Given the description of an element on the screen output the (x, y) to click on. 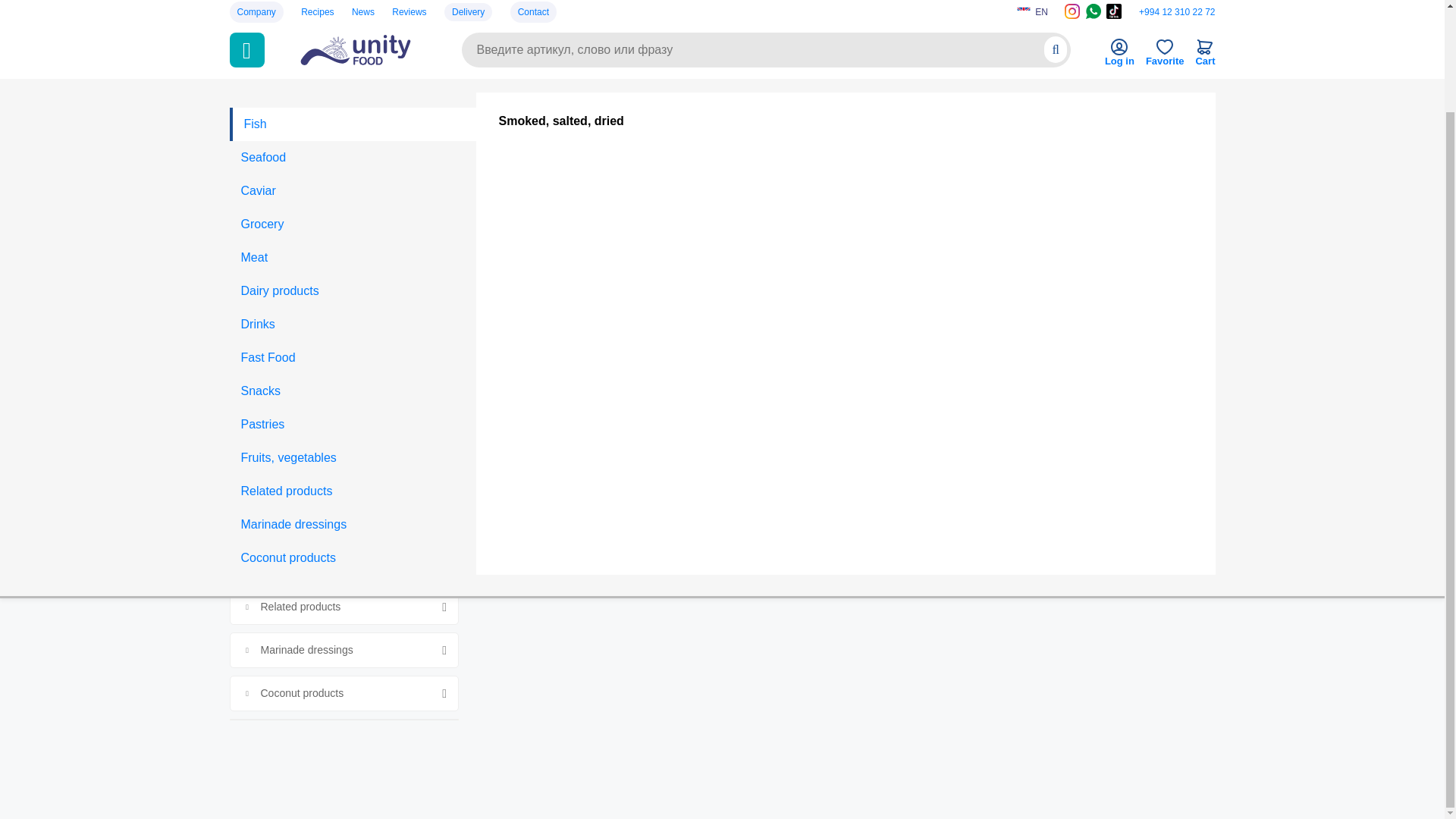
Pastries (352, 305)
Fast Food (352, 239)
Marinade dressings (352, 406)
Drinks (352, 205)
Dairy products (352, 172)
Seafood (352, 39)
Snacks (352, 272)
Meat (352, 139)
Grocery (352, 105)
Fish (352, 11)
